Given the description of an element on the screen output the (x, y) to click on. 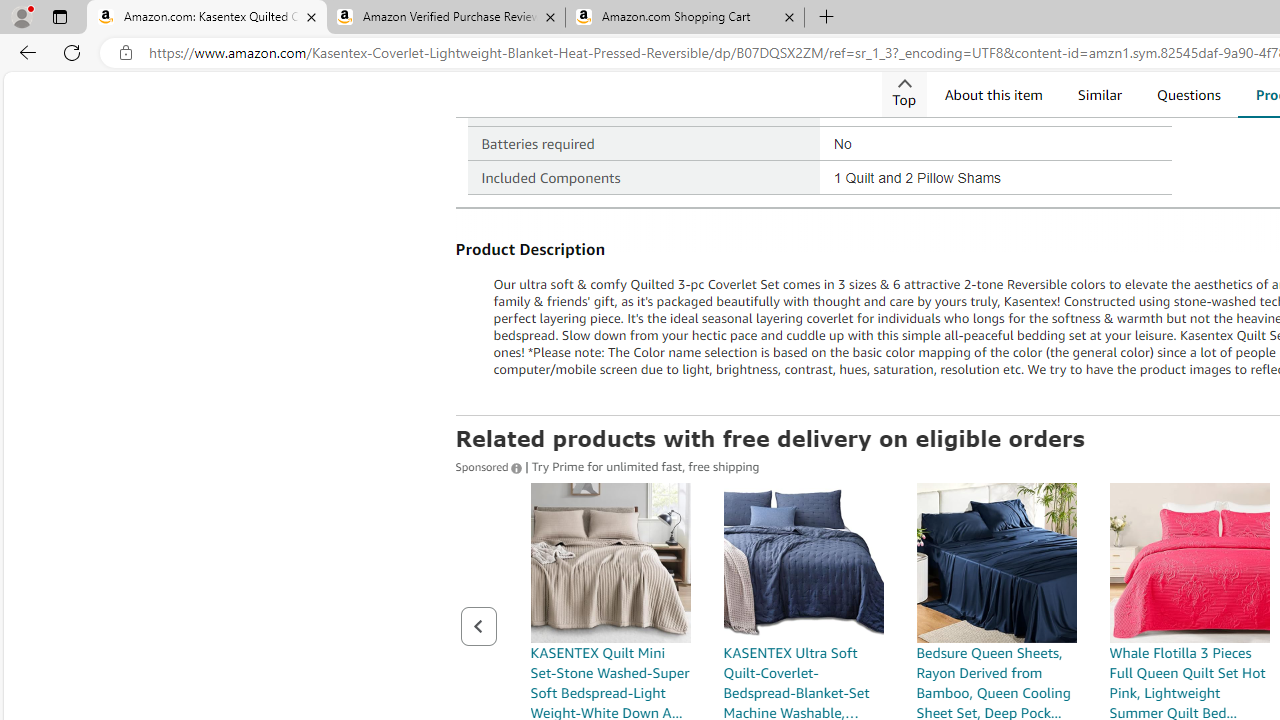
About this item (992, 94)
